Given the description of an element on the screen output the (x, y) to click on. 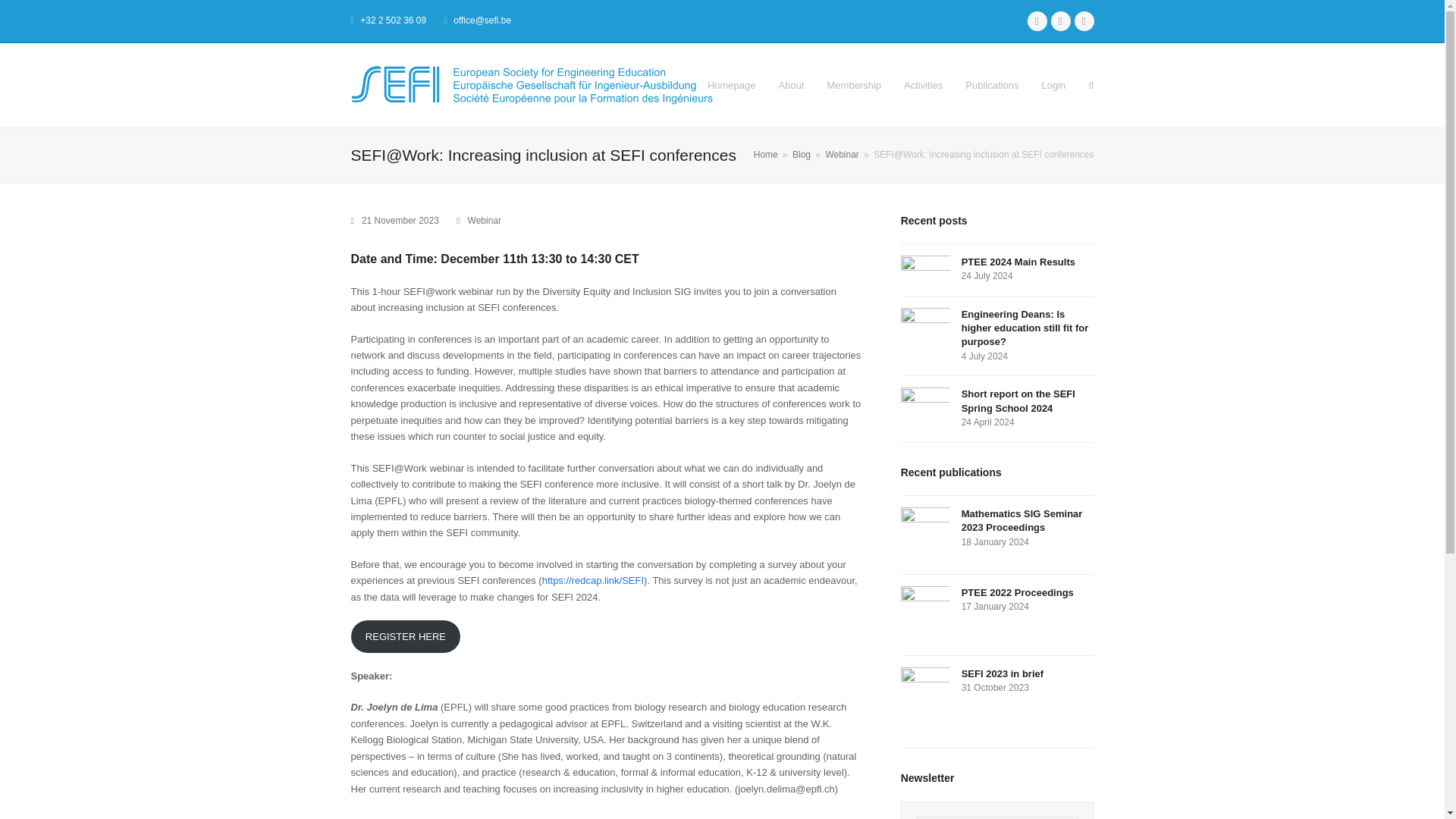
Activities (922, 85)
Blog (801, 154)
About (791, 85)
Twitter (1036, 21)
REGISTER HERE (405, 635)
Homepage (731, 85)
Webinar (842, 154)
Twitter (1036, 21)
Login (1053, 85)
Home (765, 154)
Facebook (1060, 21)
Facebook (1060, 21)
LinkedIn (1083, 21)
Webinar (483, 220)
LinkedIn (1083, 21)
